Given the description of an element on the screen output the (x, y) to click on. 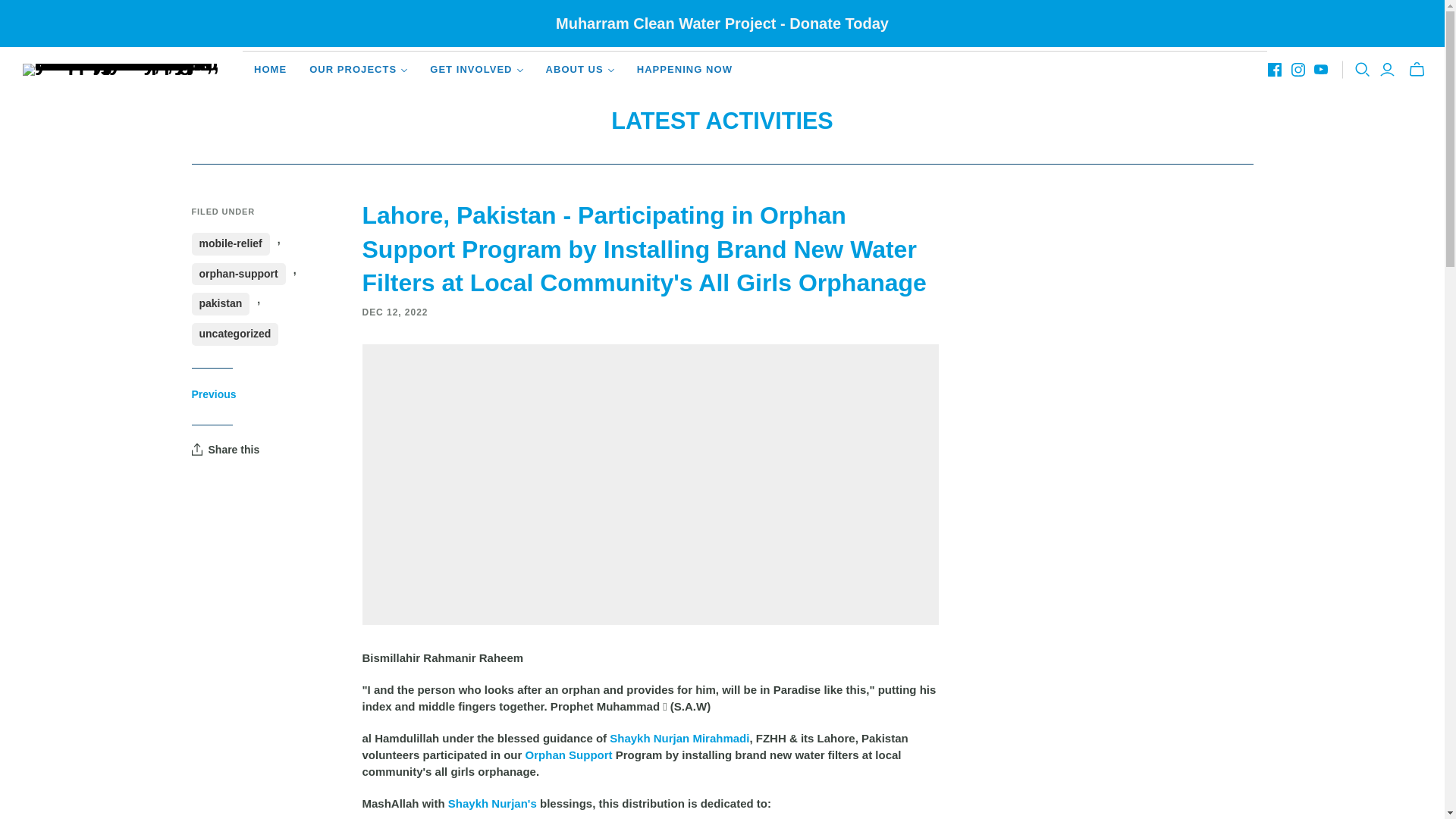
Toggle mini cart (1417, 69)
HOME (270, 69)
HAPPENING NOW (685, 69)
